Given the description of an element on the screen output the (x, y) to click on. 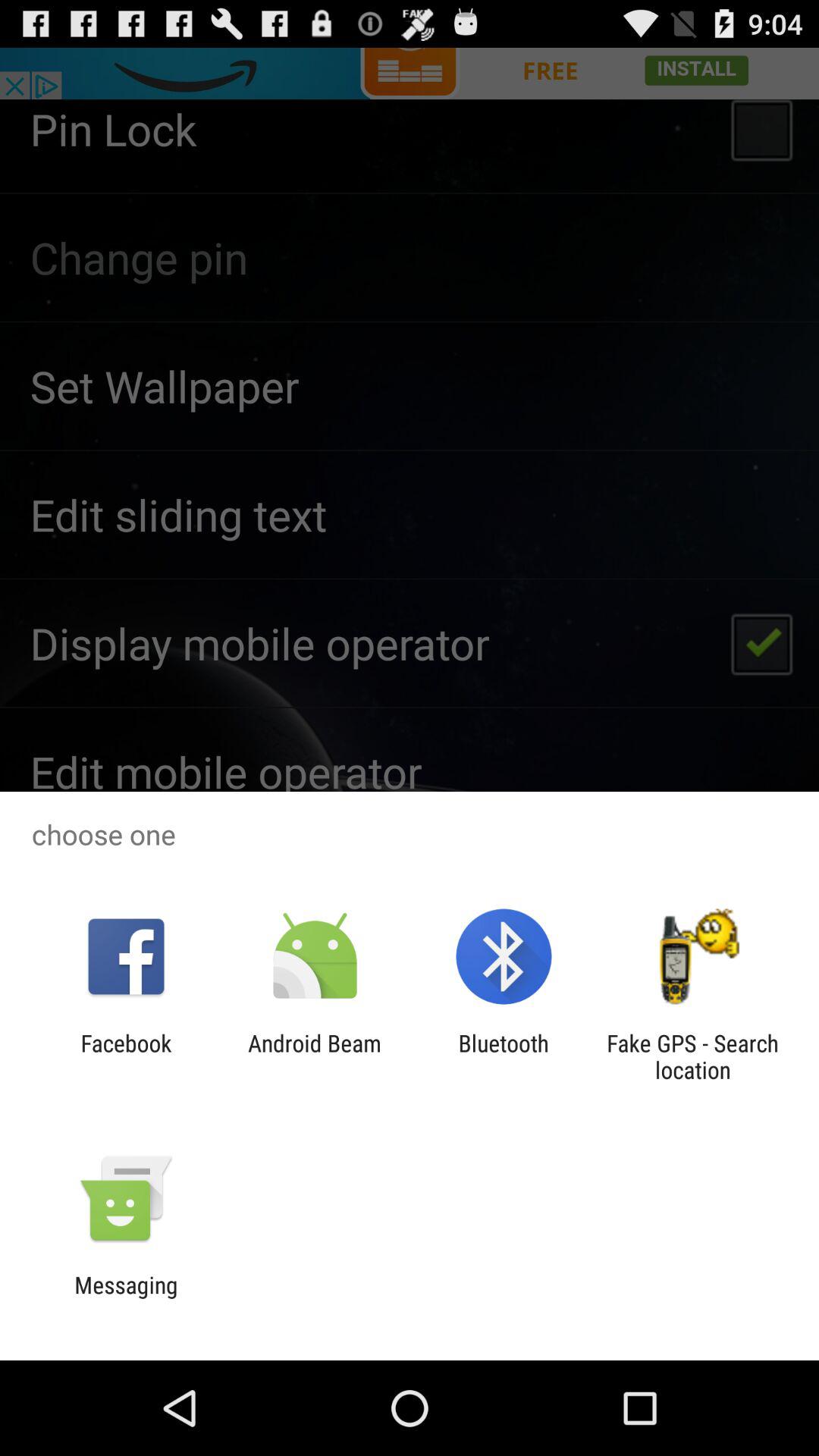
choose the icon next to bluetooth icon (692, 1056)
